Given the description of an element on the screen output the (x, y) to click on. 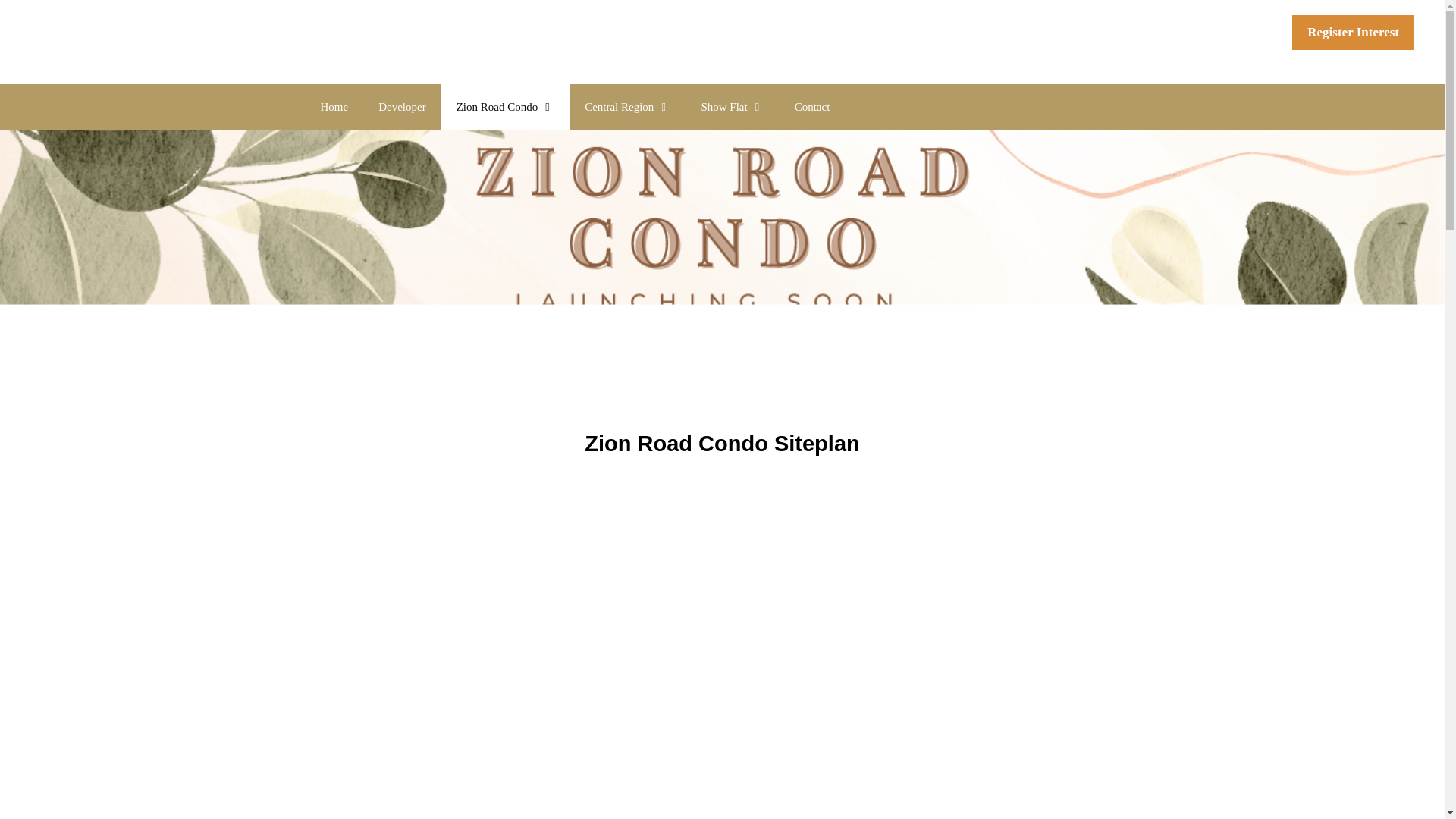
Zion Road Condo (505, 106)
Central Region (627, 106)
Contact (811, 106)
Developer (401, 106)
Show Flat (731, 106)
Home (333, 106)
Register Interest (1352, 32)
